Given the description of an element on the screen output the (x, y) to click on. 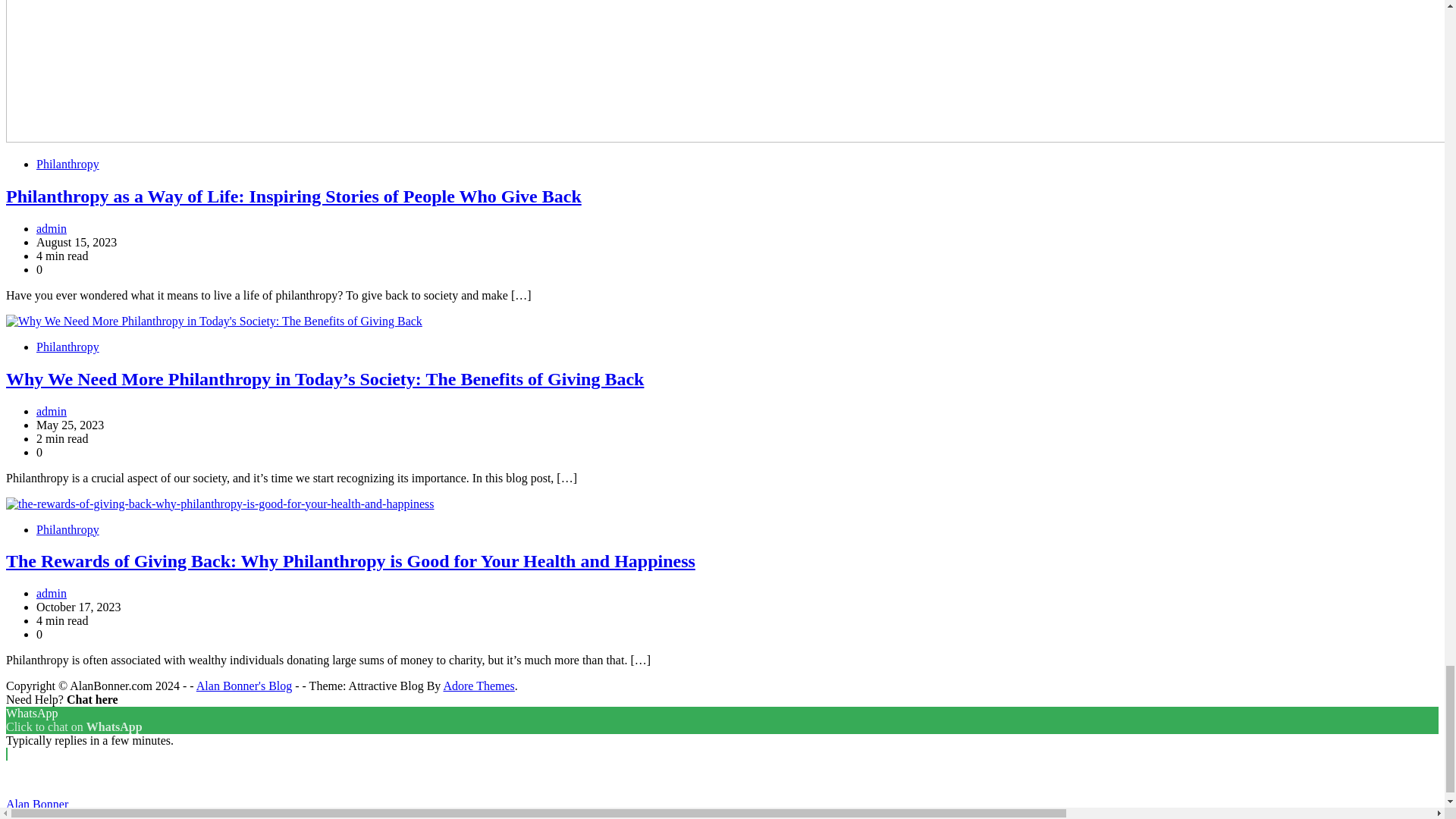
Adore Themes (477, 685)
admin (51, 410)
Philanthropy (67, 346)
Philanthropy (67, 164)
Philanthropy (67, 529)
Alan Bonner's Blog (244, 685)
admin (51, 593)
admin (51, 228)
